Given the description of an element on the screen output the (x, y) to click on. 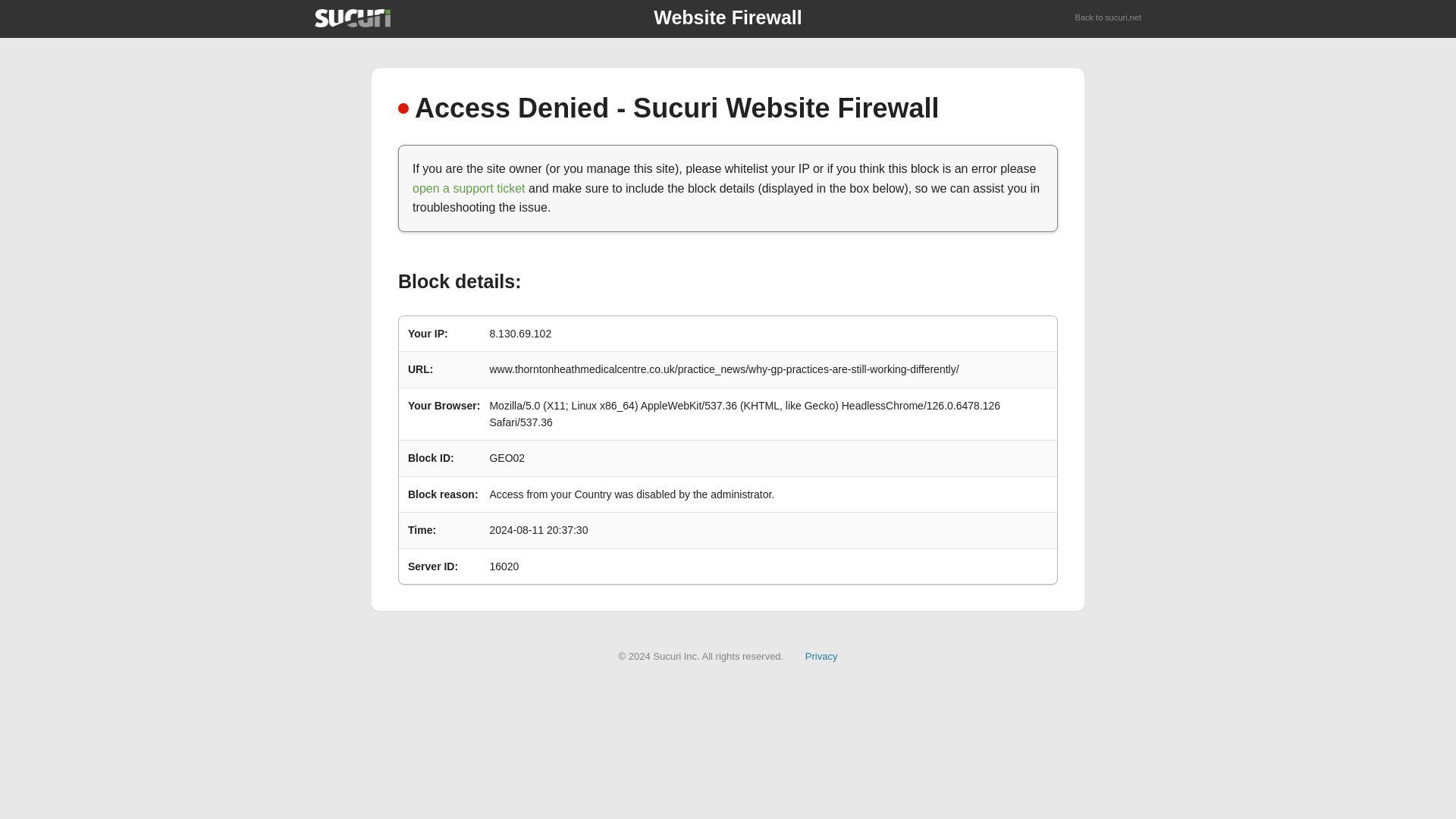
Back to sucuri.net (1108, 18)
open a support ticket (468, 187)
Privacy (821, 655)
